Given the description of an element on the screen output the (x, y) to click on. 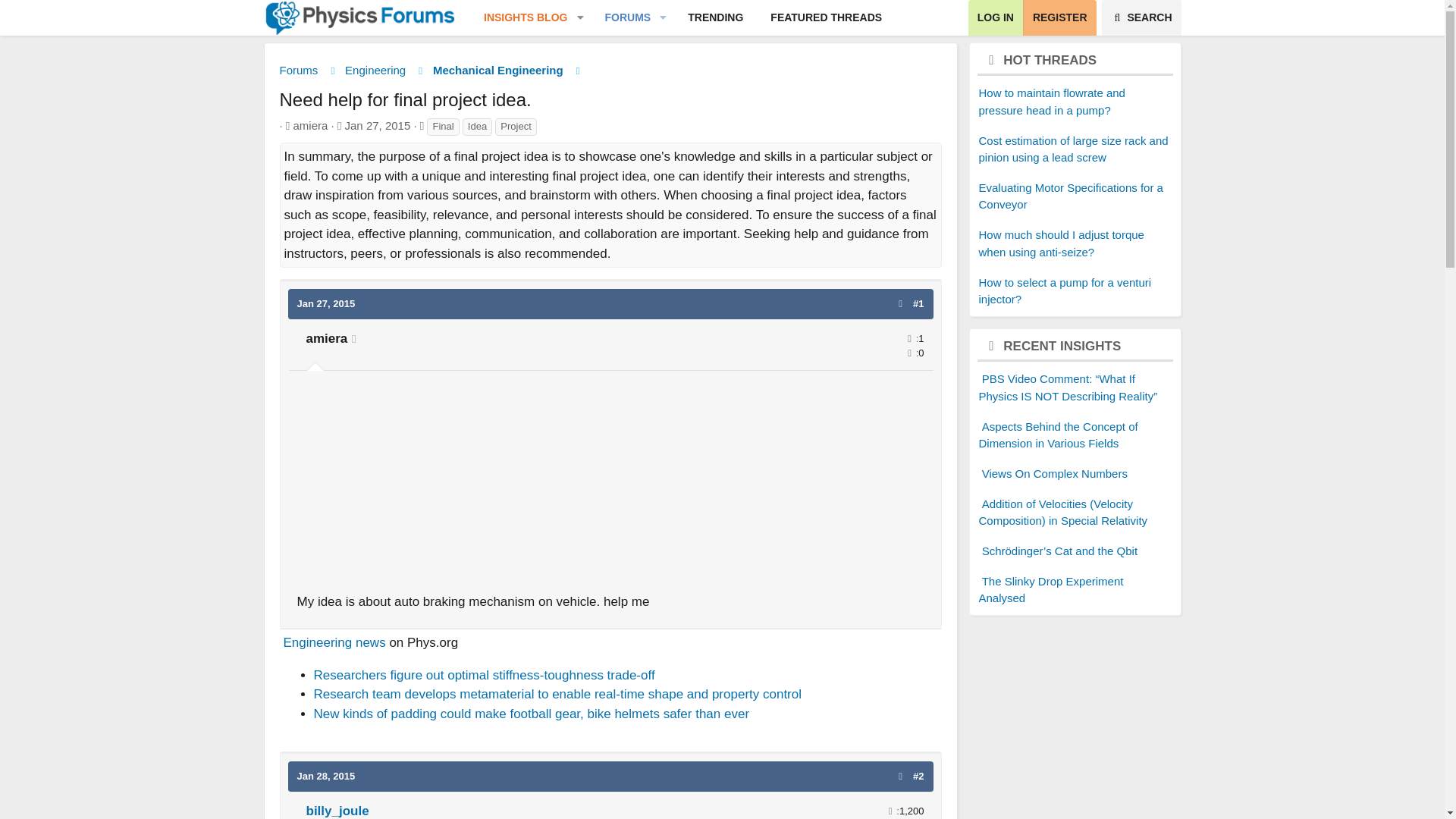
Jan 27, 2015 at 11:49 PM (377, 124)
Messages (908, 338)
Messages (889, 809)
LOG IN (995, 18)
Search (1140, 18)
FEATURED THREADS (826, 18)
INSIGHTS BLOG (519, 18)
Jan 28, 2015 at 12:26 AM (326, 776)
SEARCH (1140, 18)
REGISTER (682, 18)
Reaction score (1059, 18)
Advertisement (908, 352)
FORUMS (682, 18)
